Given the description of an element on the screen output the (x, y) to click on. 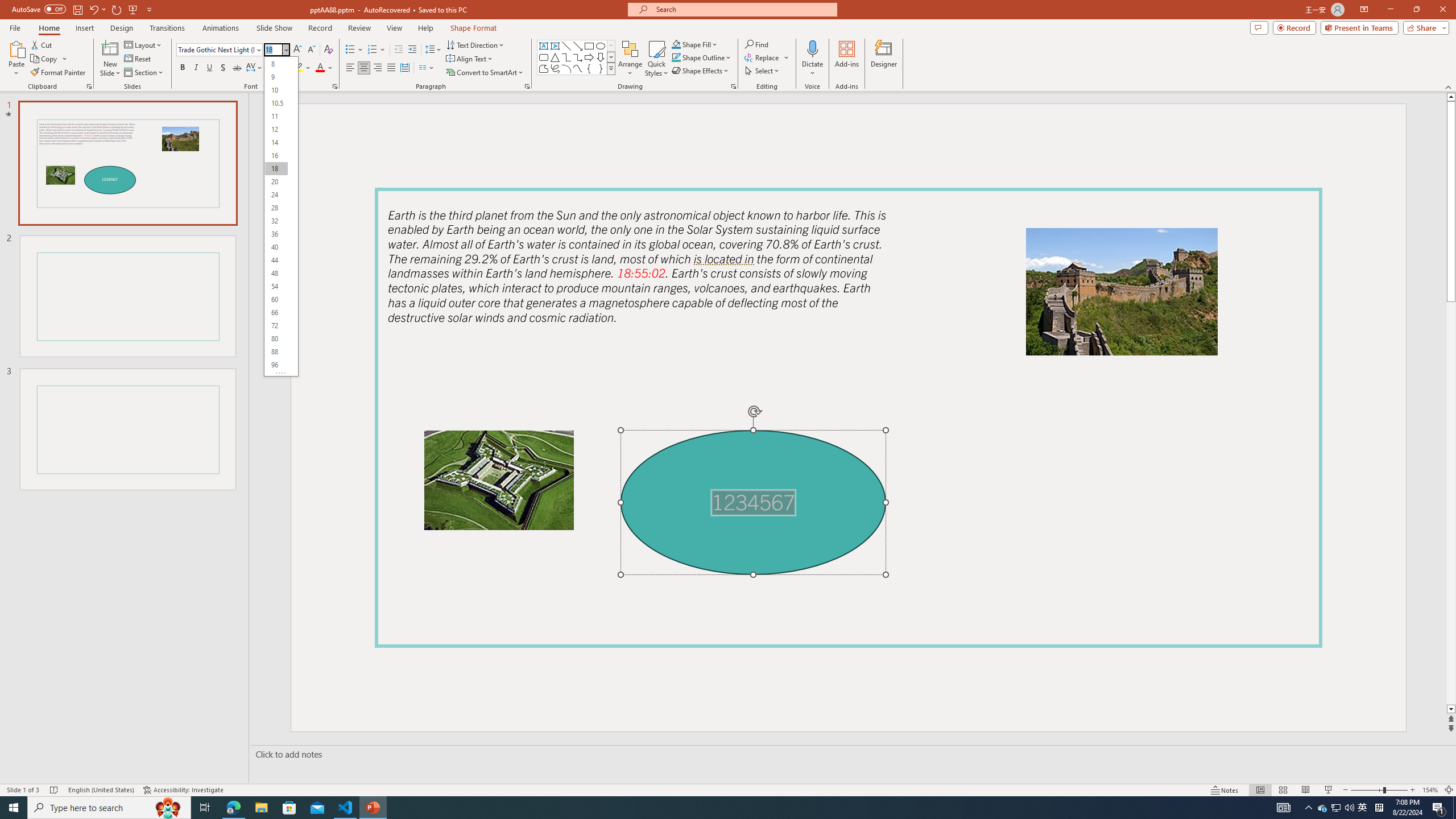
44 (276, 259)
10 (276, 89)
20 (276, 181)
